Given the description of an element on the screen output the (x, y) to click on. 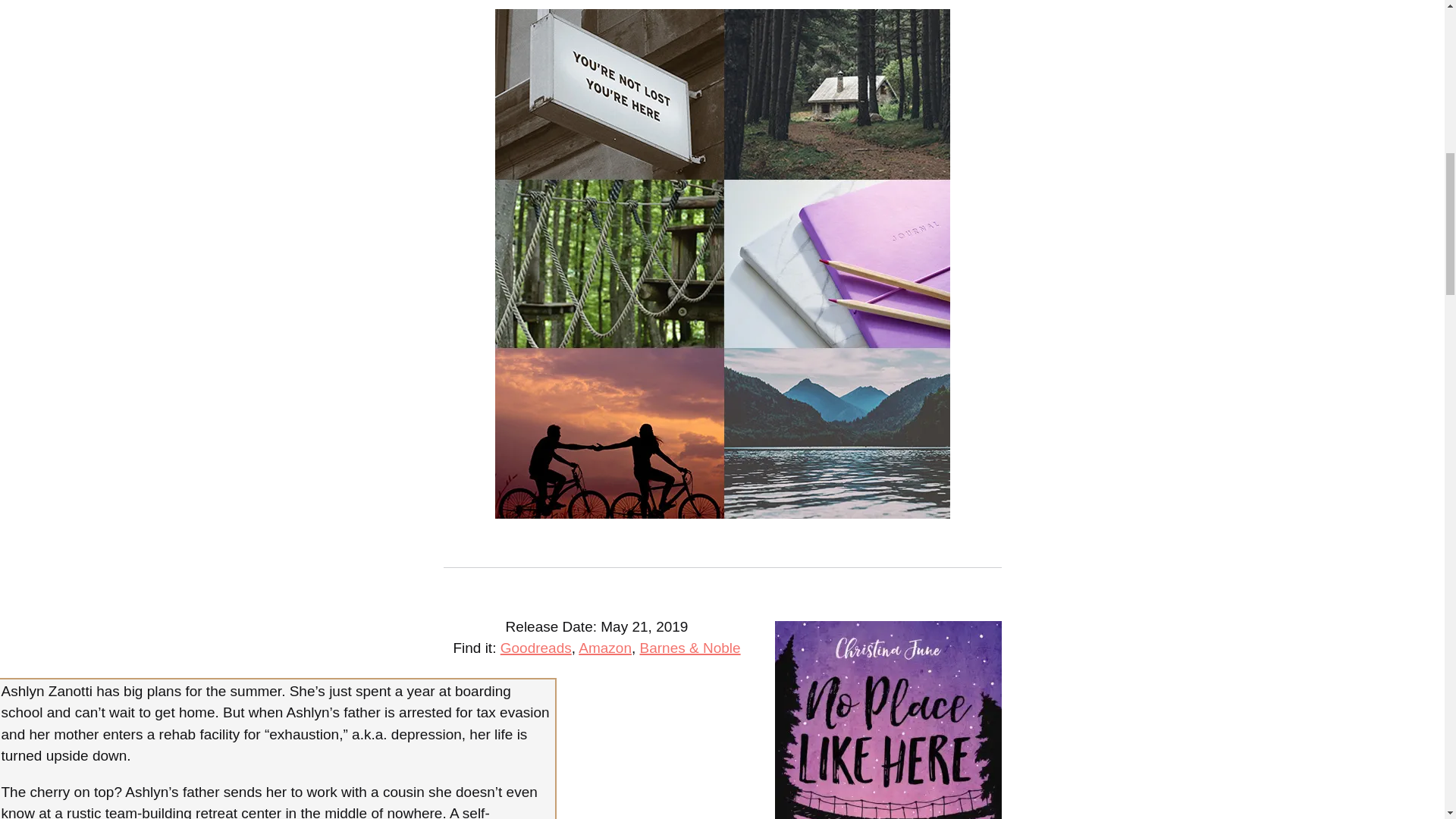
Amazon (604, 647)
Goodreads (536, 647)
